Given the description of an element on the screen output the (x, y) to click on. 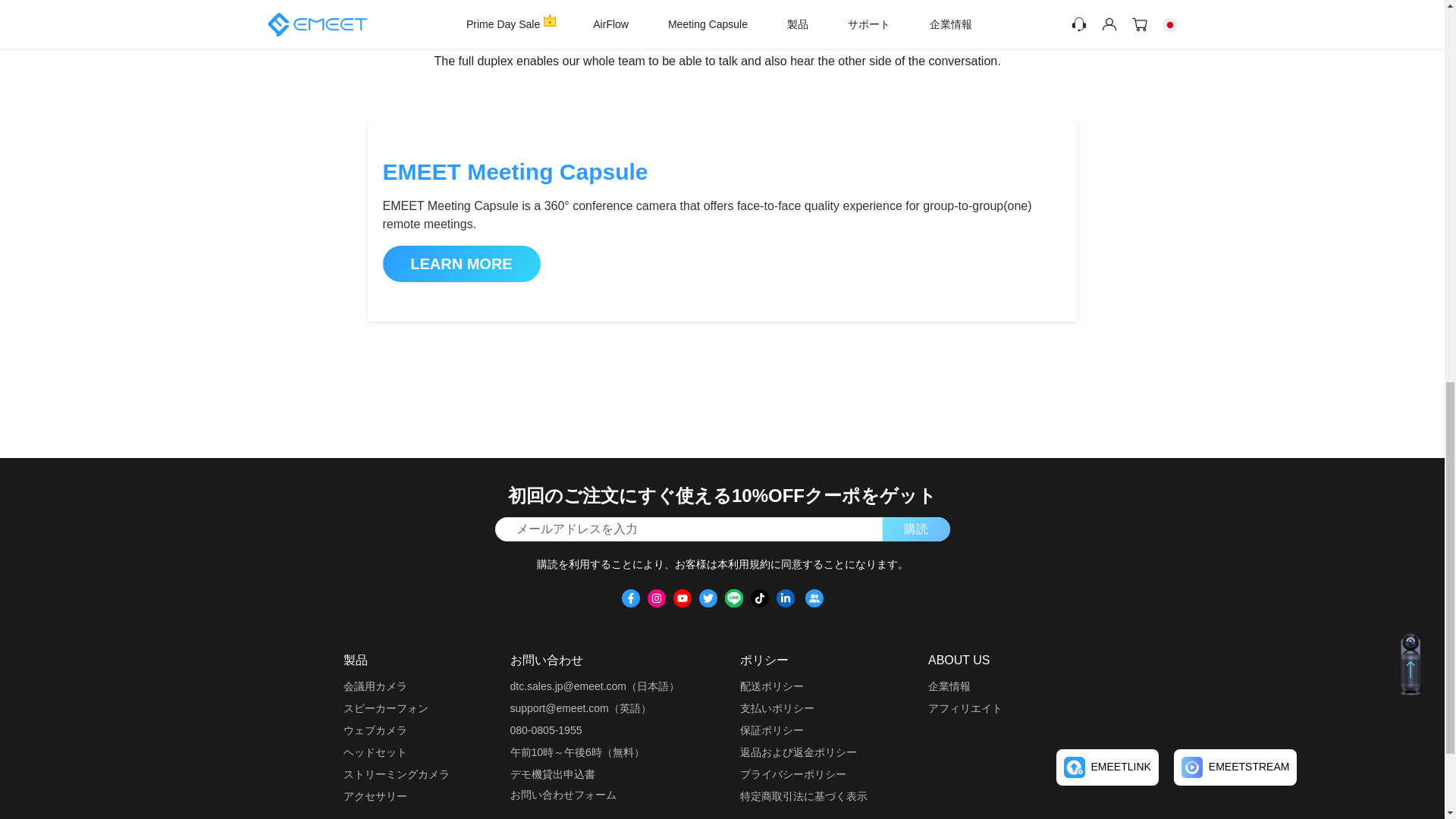
This online store is secured by Shopify (1112, 691)
